Given the description of an element on the screen output the (x, y) to click on. 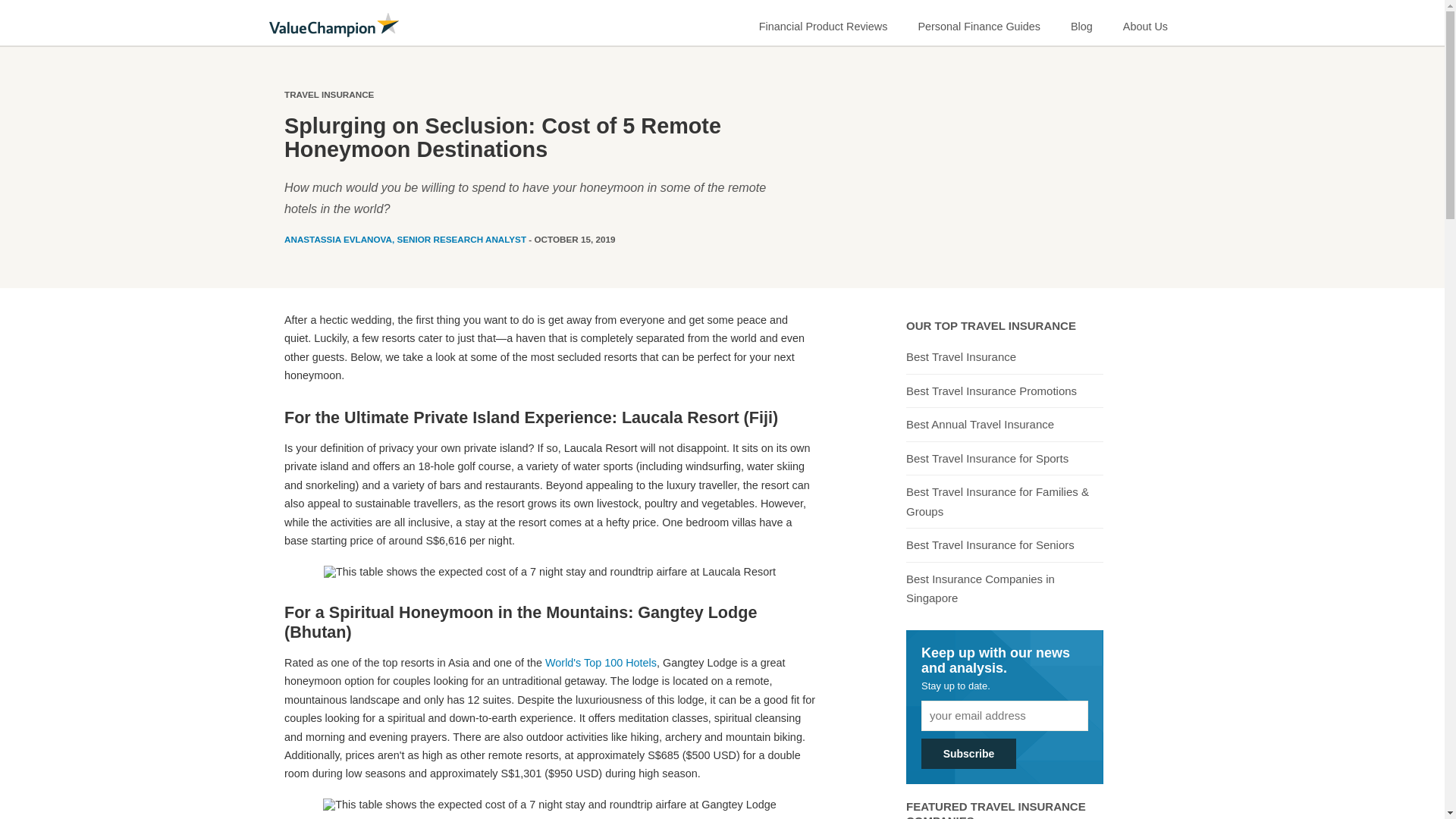
Best Insurance Companies in Singapore (1004, 588)
Financial Product Reviews (823, 22)
Best Travel Insurance (960, 356)
Best Travel Insurance for Sports (986, 458)
Home (333, 24)
The Top 100 Hotels in the World (600, 662)
Best Travel Insurance for Seniors (989, 544)
Best Travel Insurance Promotions (991, 390)
Best Annual Travel Insurance (979, 424)
